Given the description of an element on the screen output the (x, y) to click on. 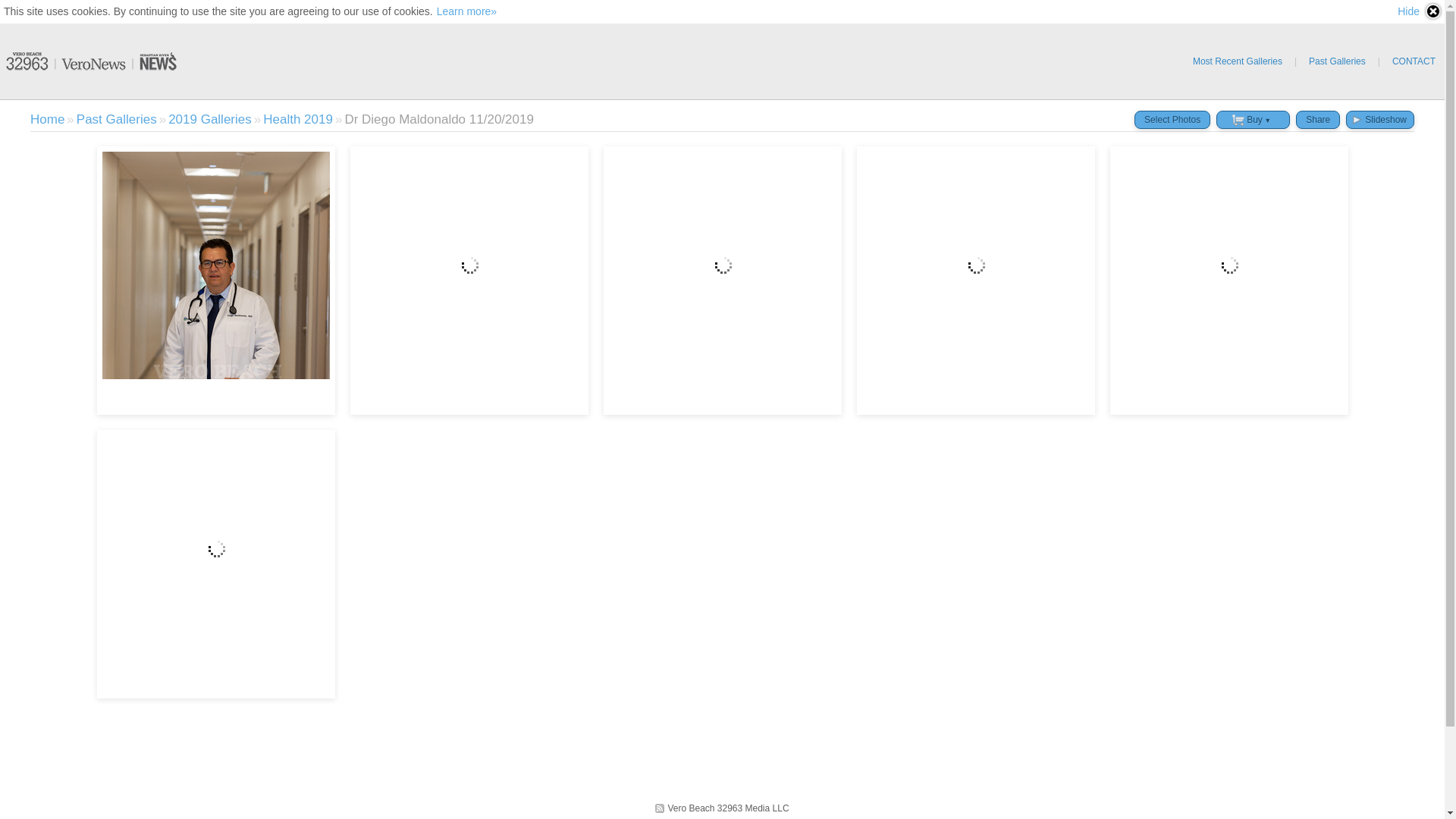
Past Galleries Element type: text (1336, 61)
Home Element type: text (47, 119)
Health 2019 Element type: text (297, 119)
CONTACT Element type: text (1413, 61)
2019 Galleries Element type: text (209, 119)
Most Recent Galleries Element type: text (1237, 61)
Past Galleries Element type: text (116, 119)
Hide Element type: text (1419, 11)
Vero Beach 32963 Media Element type: hover (91, 61)
